Given the description of an element on the screen output the (x, y) to click on. 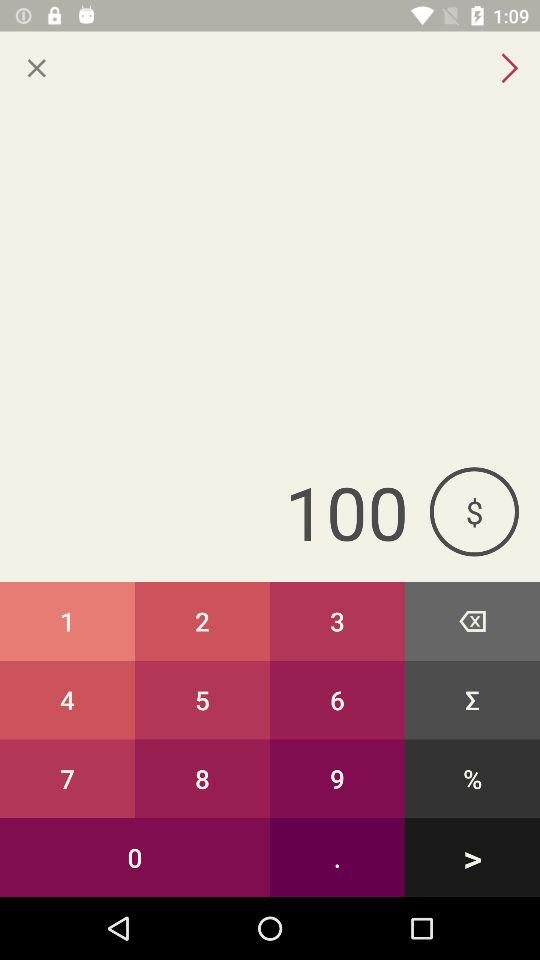
click the button to the right of 4 icon (202, 778)
